Given the description of an element on the screen output the (x, y) to click on. 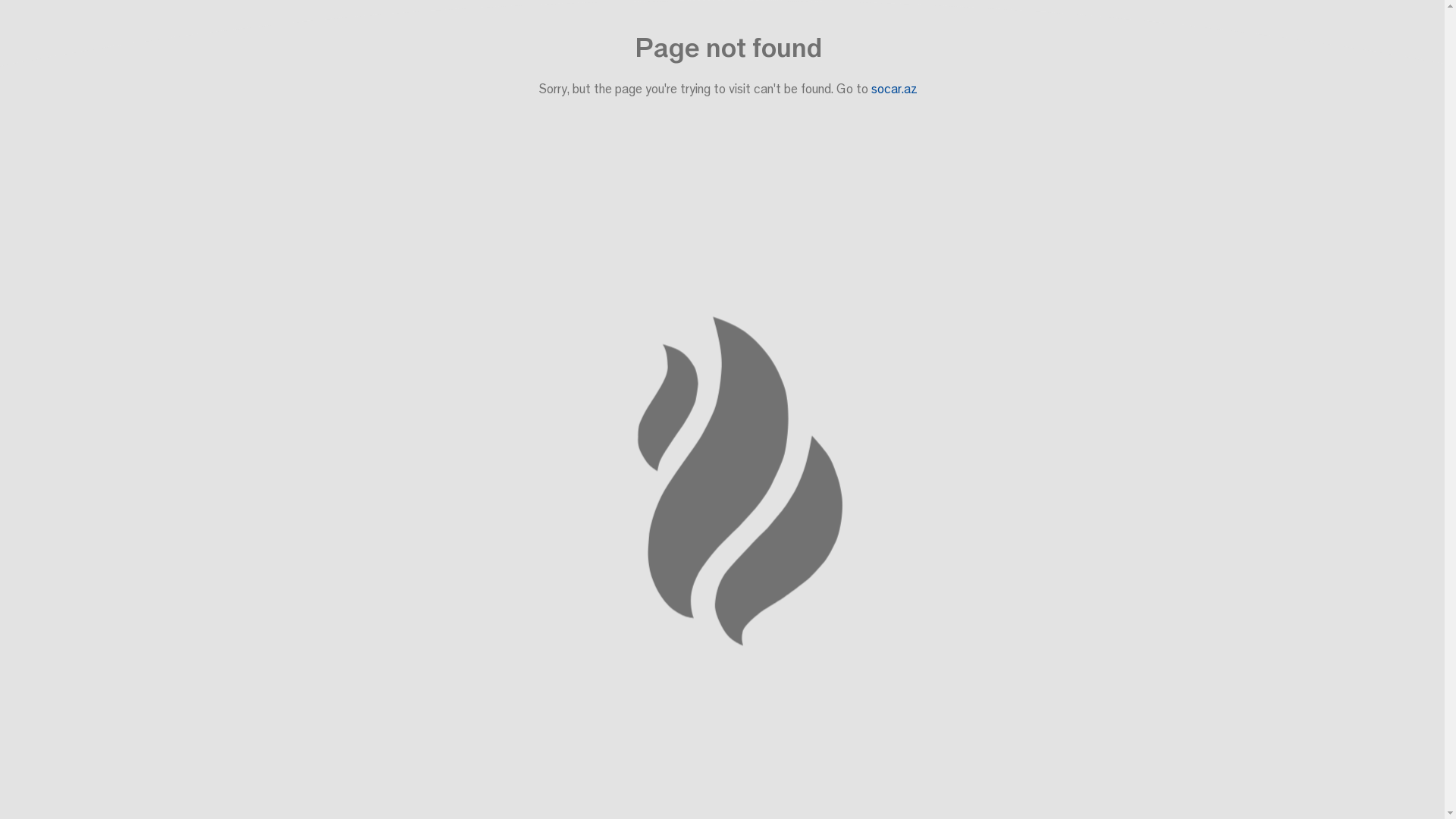
socar.az Element type: text (893, 88)
